Given the description of an element on the screen output the (x, y) to click on. 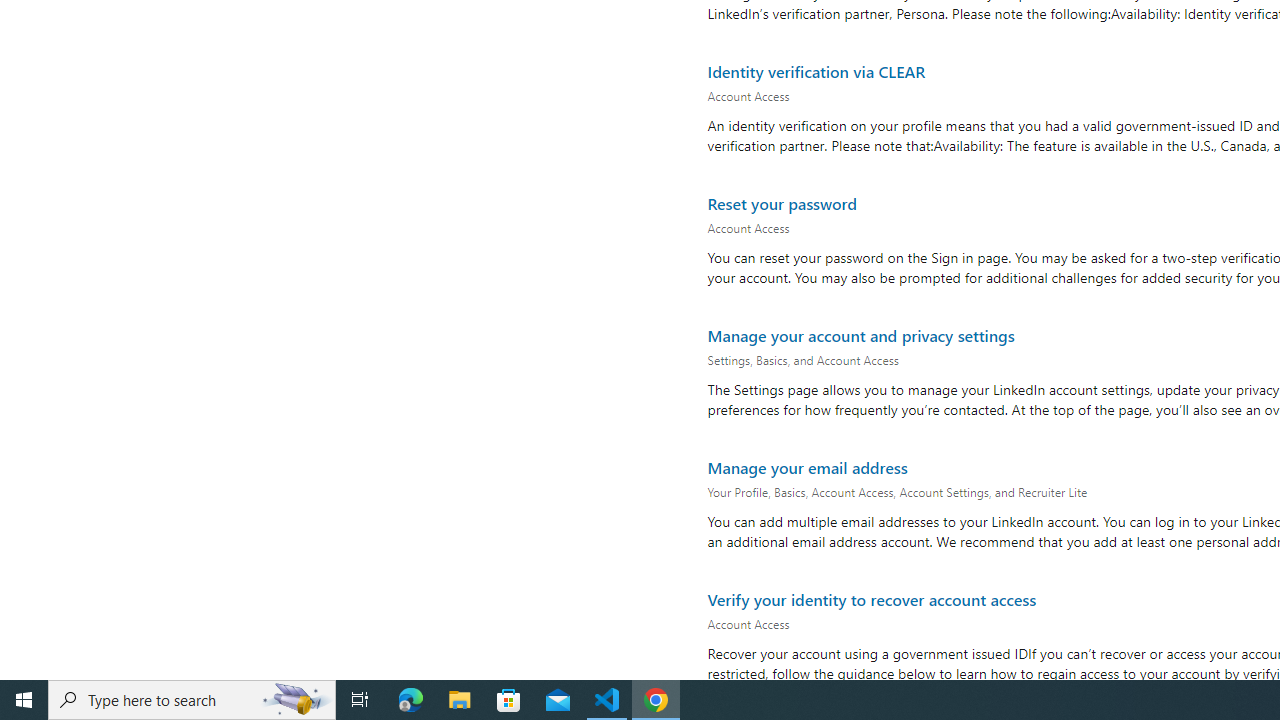
Manage your email address (806, 466)
Verify your identity to recover account access (871, 598)
Reset your password (781, 202)
Identity verification via CLEAR (815, 70)
Manage your account and privacy settings (860, 335)
